Given the description of an element on the screen output the (x, y) to click on. 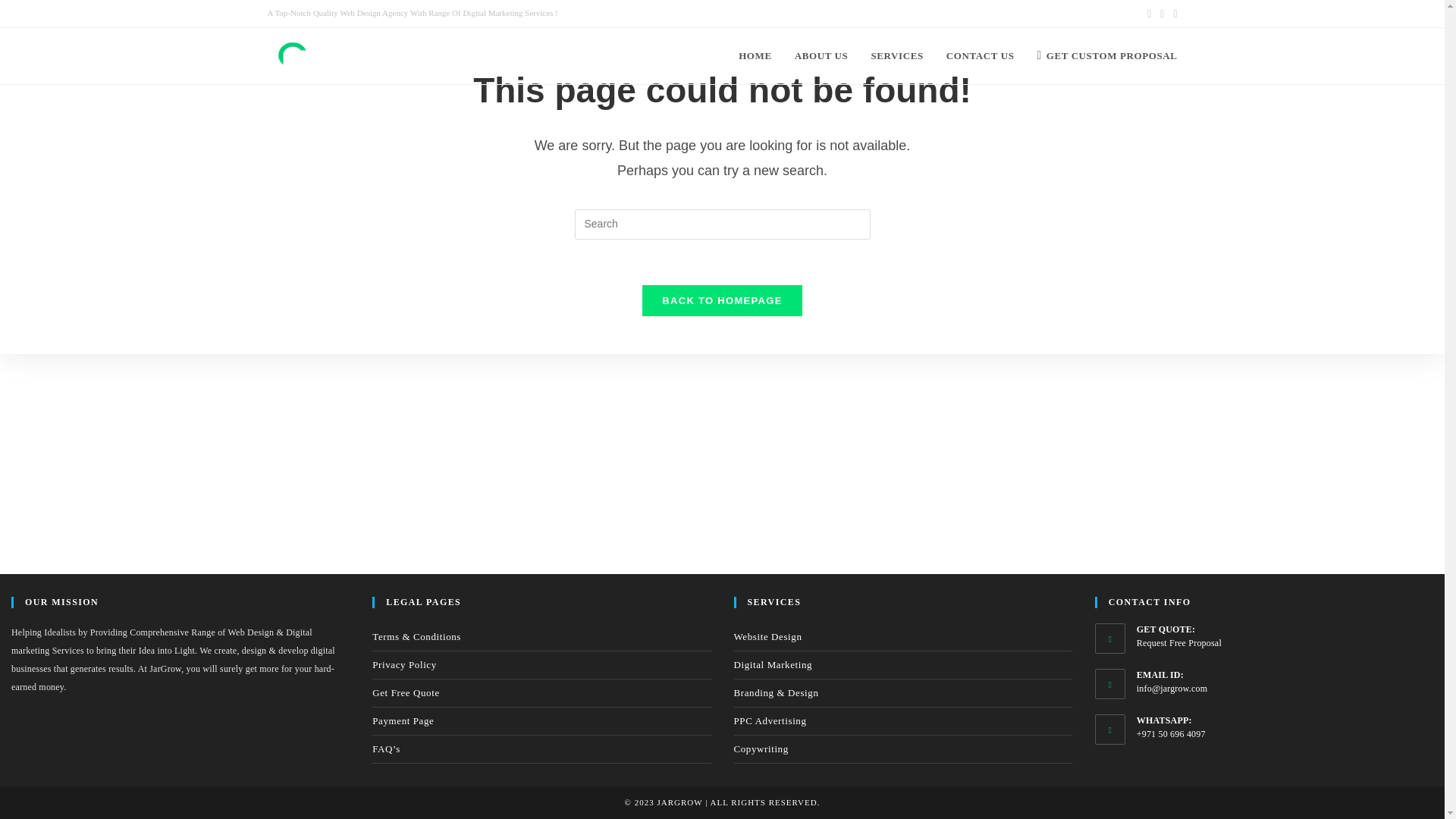
BACK TO HOMEPAGE (722, 300)
GET CUSTOM PROPOSAL (1106, 55)
HOME (754, 55)
ABOUT US (821, 55)
SERVICES (896, 55)
CONTACT US (980, 55)
